Given the description of an element on the screen output the (x, y) to click on. 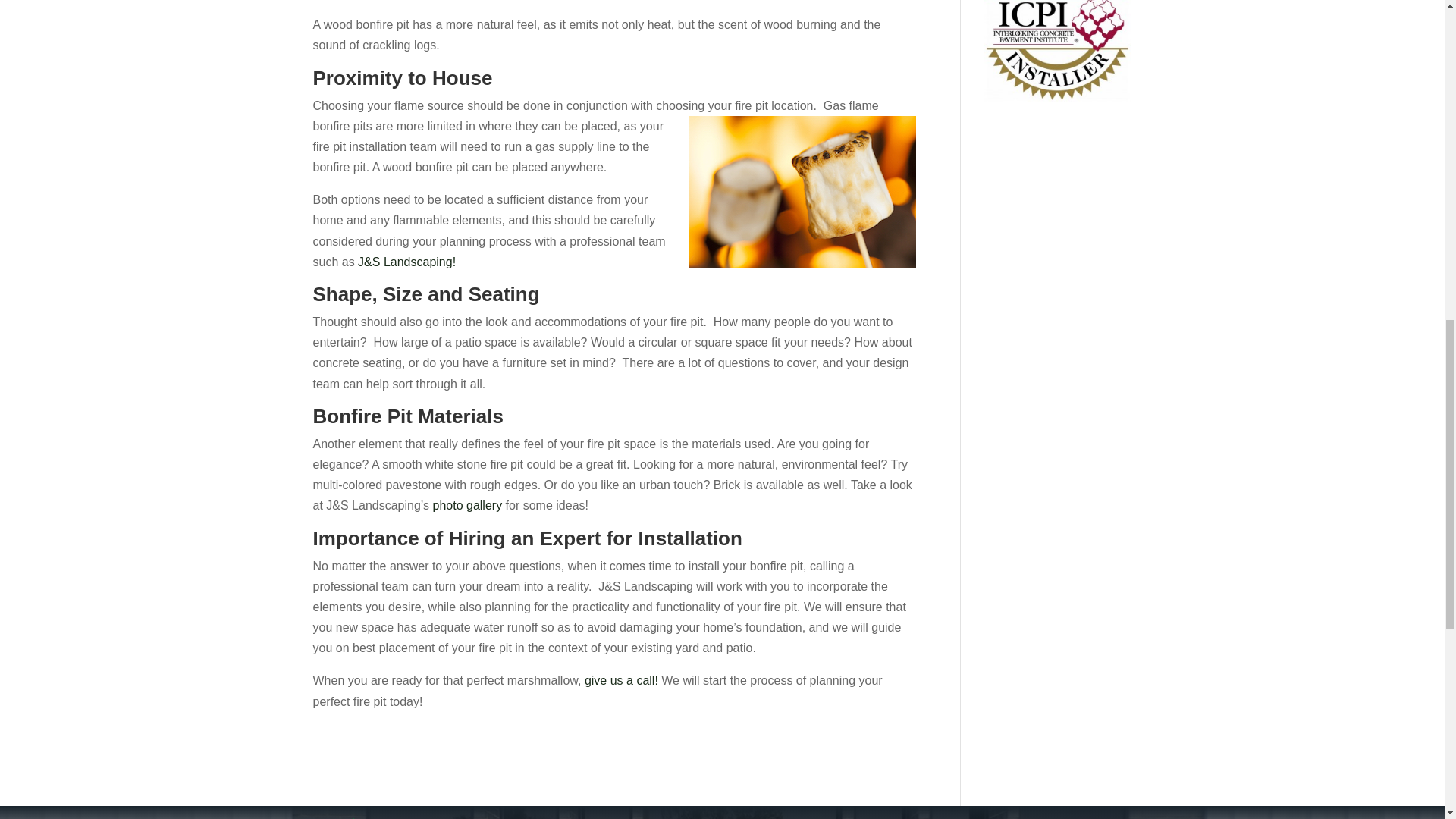
J and S Landscaping LOGO (353, 818)
